Given the description of an element on the screen output the (x, y) to click on. 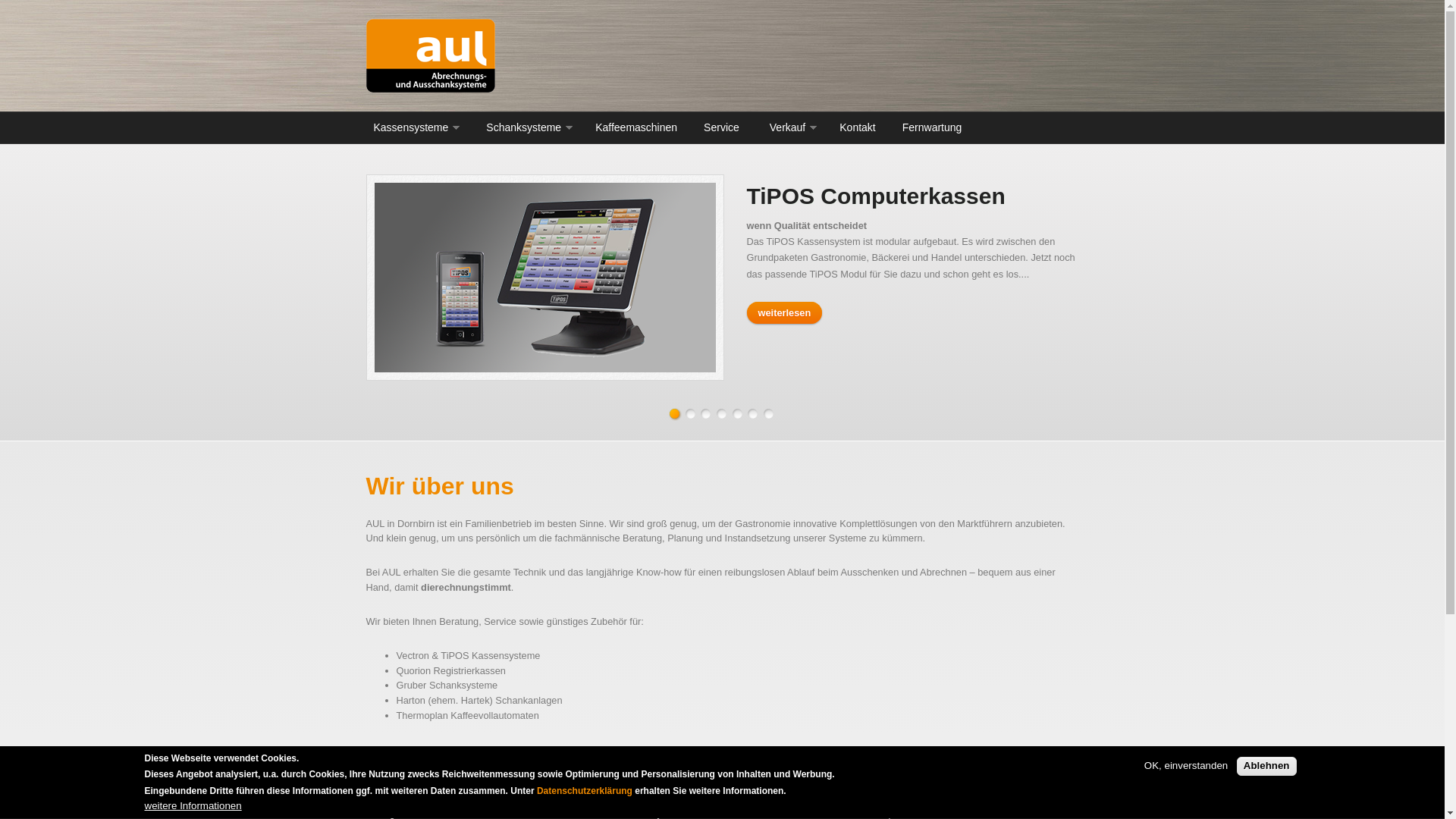
Kaffeemaschinen Element type: text (635, 127)
Schanksysteme Element type: text (525, 127)
Startseite Element type: hover (600, 55)
weiterlesen Element type: text (784, 312)
weitere Informationen Element type: text (192, 806)
OK, einverstanden Element type: text (1185, 765)
Kassensysteme Element type: text (412, 127)
Direkt zum Inhalt Element type: text (36, 0)
Service Element type: text (721, 127)
Verkauf Element type: text (789, 127)
Ablehnen Element type: text (1266, 765)
Fernwartung Element type: text (930, 127)
Kontakt Element type: text (856, 127)
